Given the description of an element on the screen output the (x, y) to click on. 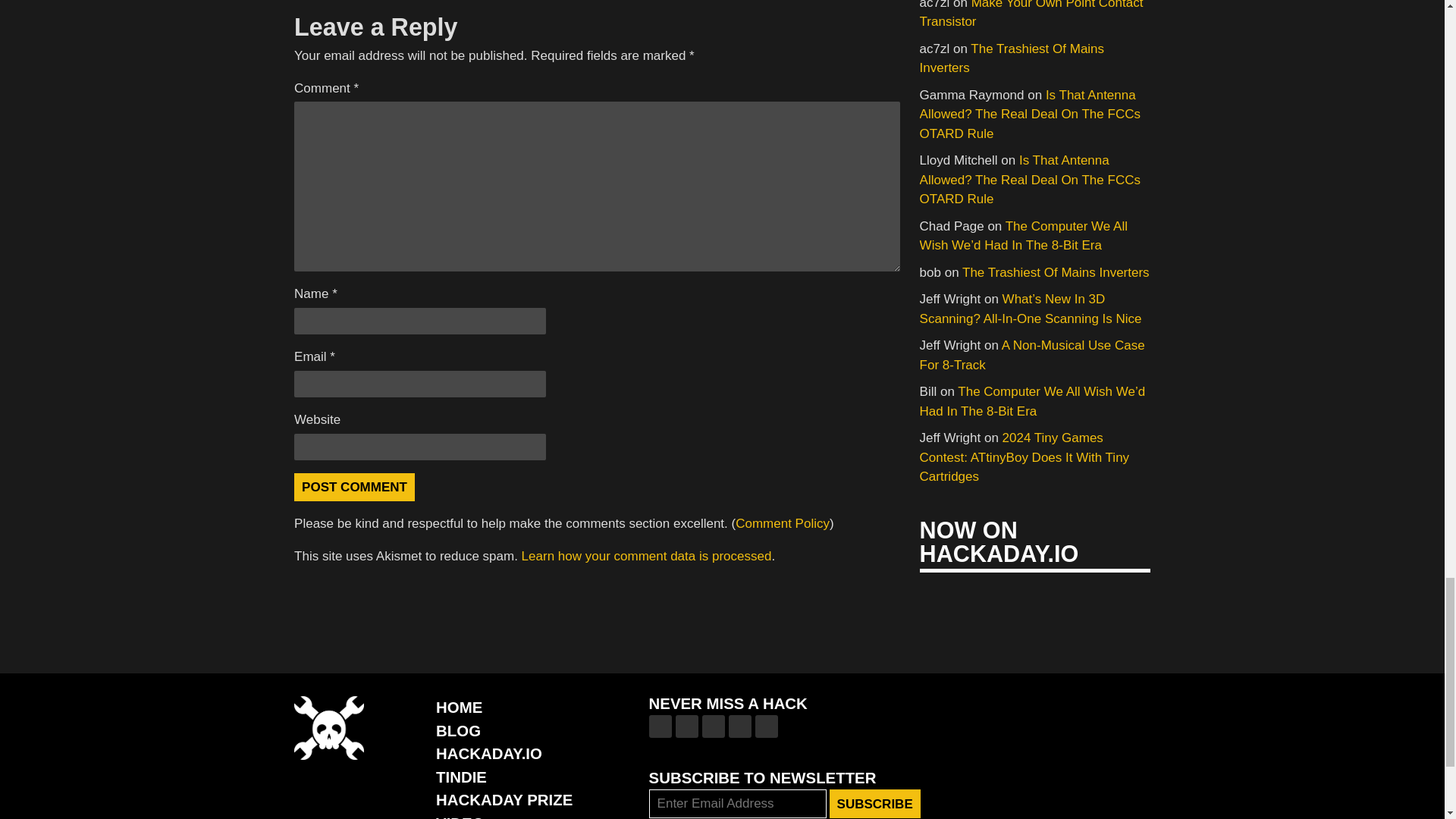
Post Comment (354, 487)
Subscribe (874, 803)
Build Something that Matters (503, 799)
